Given the description of an element on the screen output the (x, y) to click on. 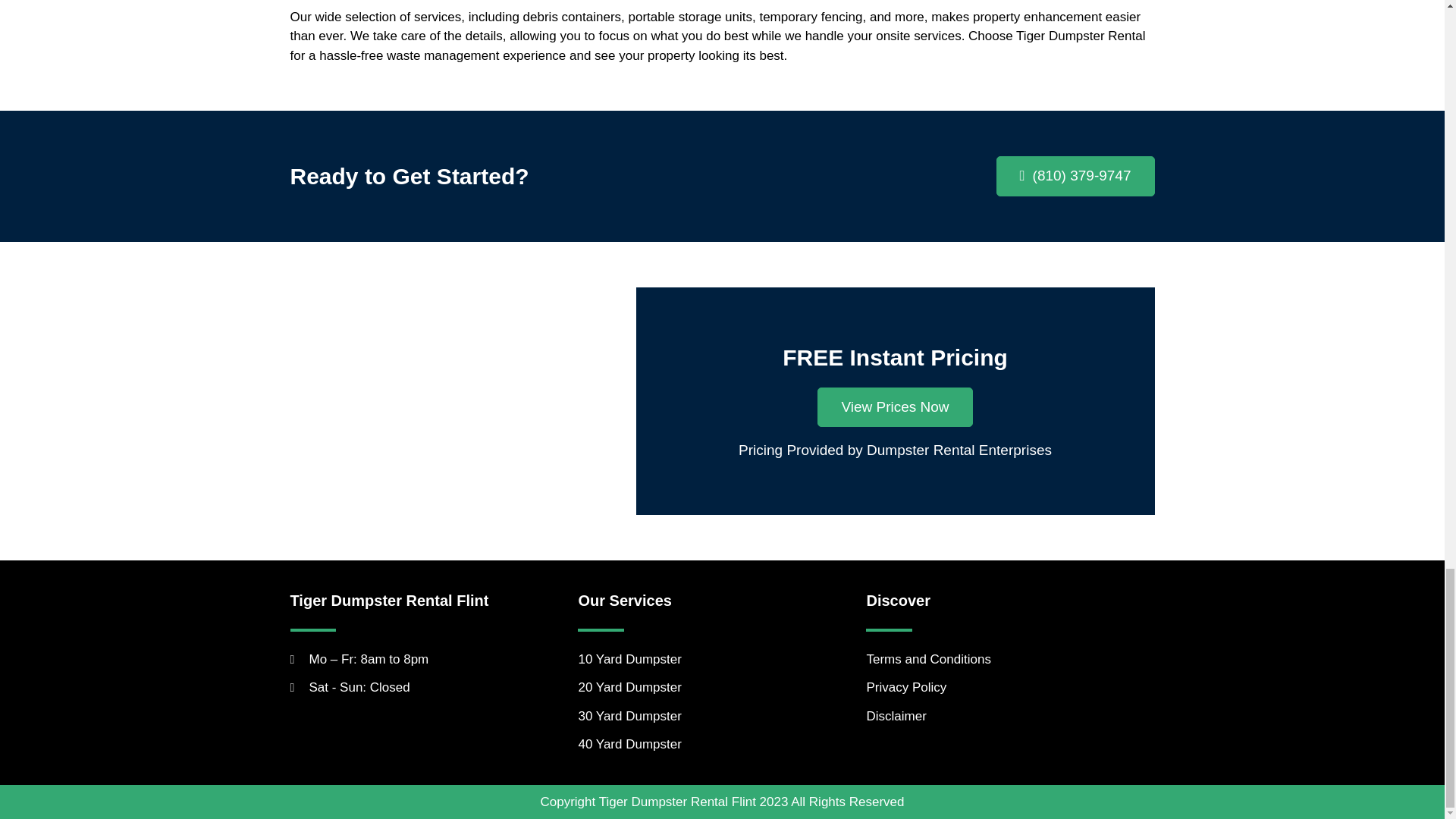
Terms and Conditions (1010, 659)
Privacy Policy (1010, 687)
Disclaimer (1010, 716)
View Prices Now (894, 407)
